Given the description of an element on the screen output the (x, y) to click on. 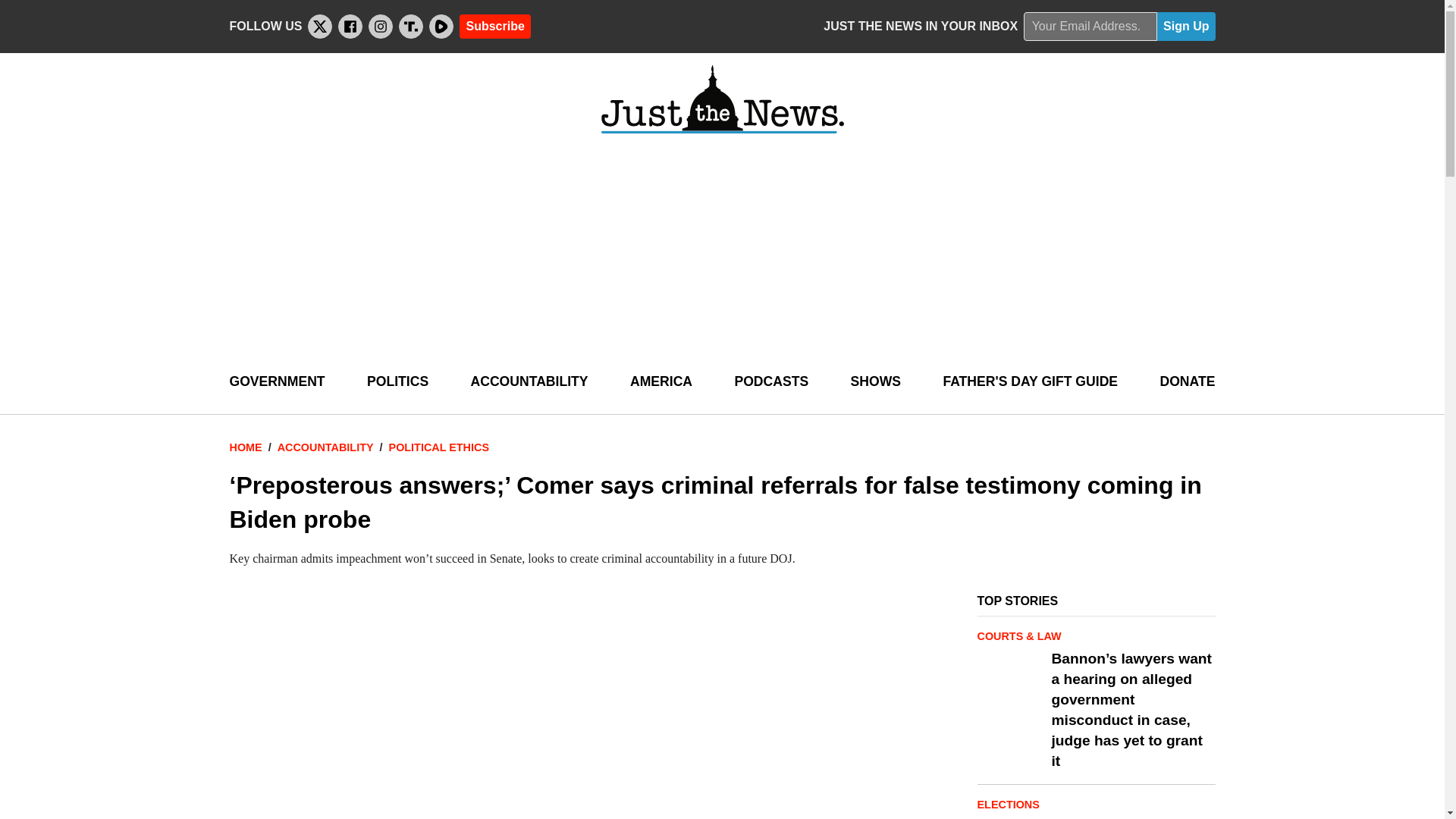
PODCASTS (770, 381)
ACCOUNTABILITY (529, 381)
DONATE (1186, 381)
SHOWS (875, 381)
FATHER'S DAY GIFT GUIDE (1030, 381)
POLITICS (397, 381)
Sign Up (1185, 26)
Sign Up (1185, 26)
AMERICA (661, 381)
